Given the description of an element on the screen output the (x, y) to click on. 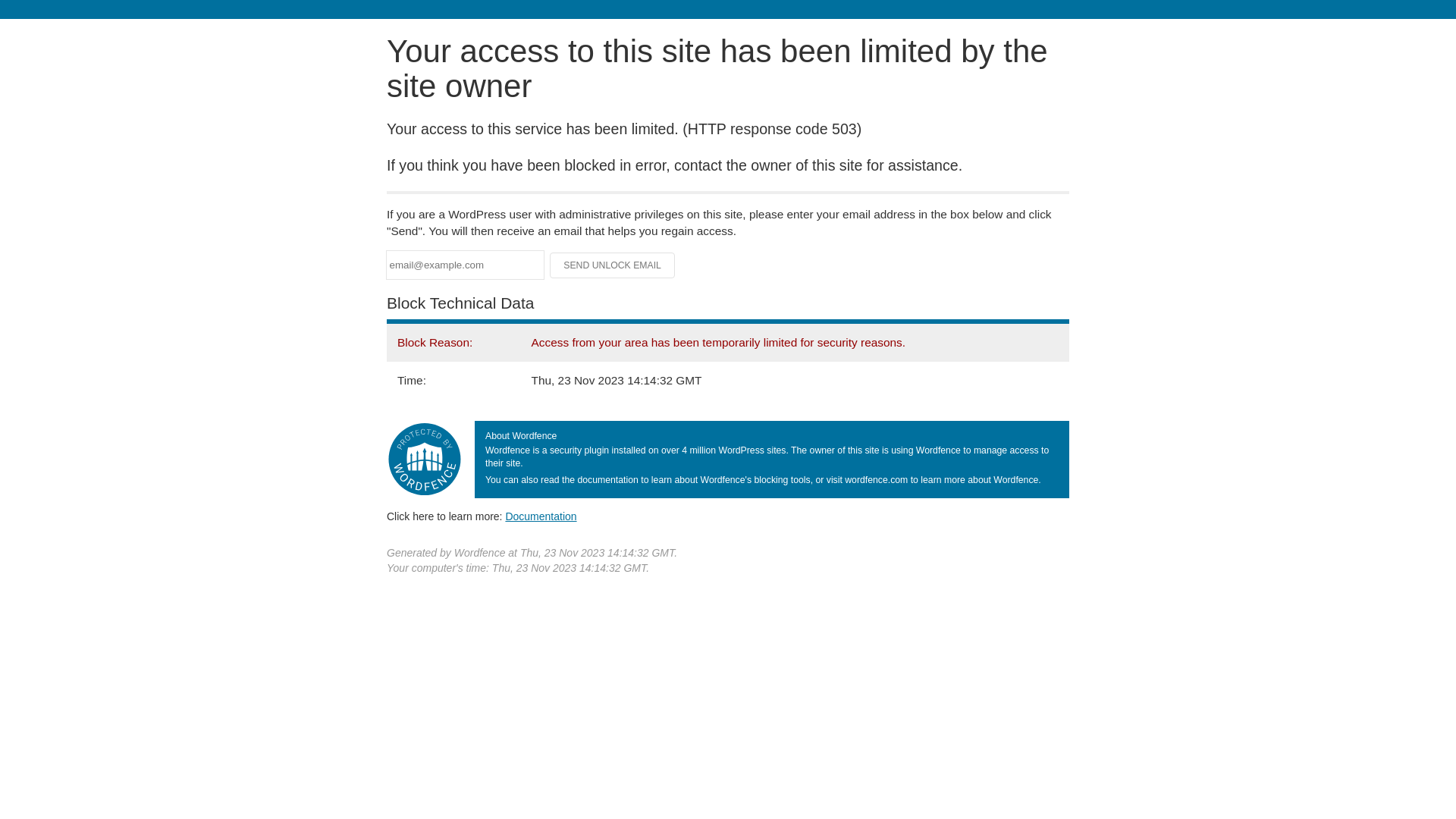
Documentation Element type: text (540, 516)
Send Unlock Email Element type: text (612, 265)
